Given the description of an element on the screen output the (x, y) to click on. 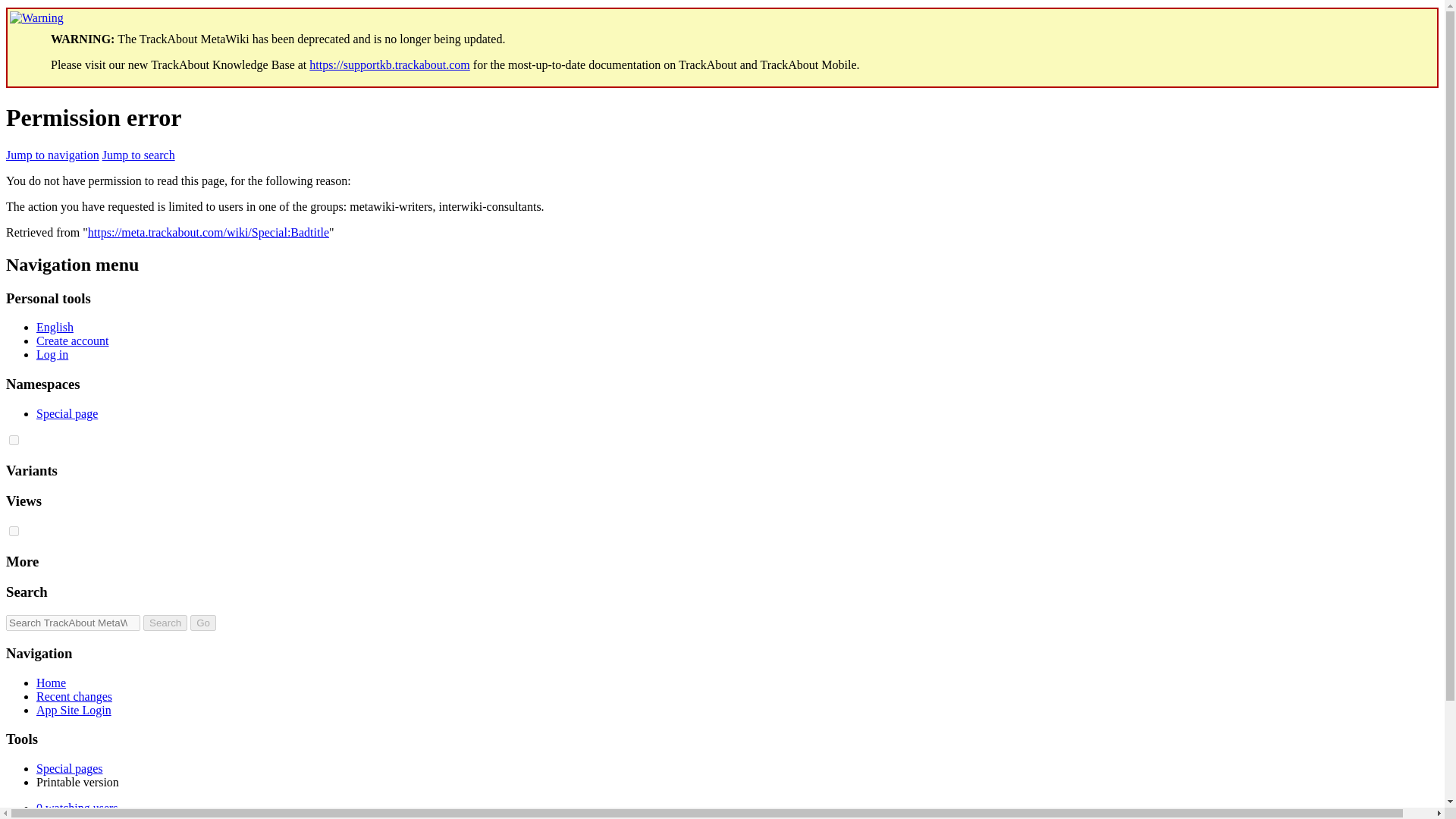
on (13, 531)
Jump to search (137, 154)
Special page (66, 413)
Search the pages for this text (164, 622)
Search (164, 622)
on (13, 439)
Go (202, 622)
Search (164, 622)
Go to a page with this exact name if it exists (202, 622)
Special pages (69, 768)
Search (164, 622)
Printable version (77, 781)
0 watching users (76, 807)
Go (202, 622)
